Given the description of an element on the screen output the (x, y) to click on. 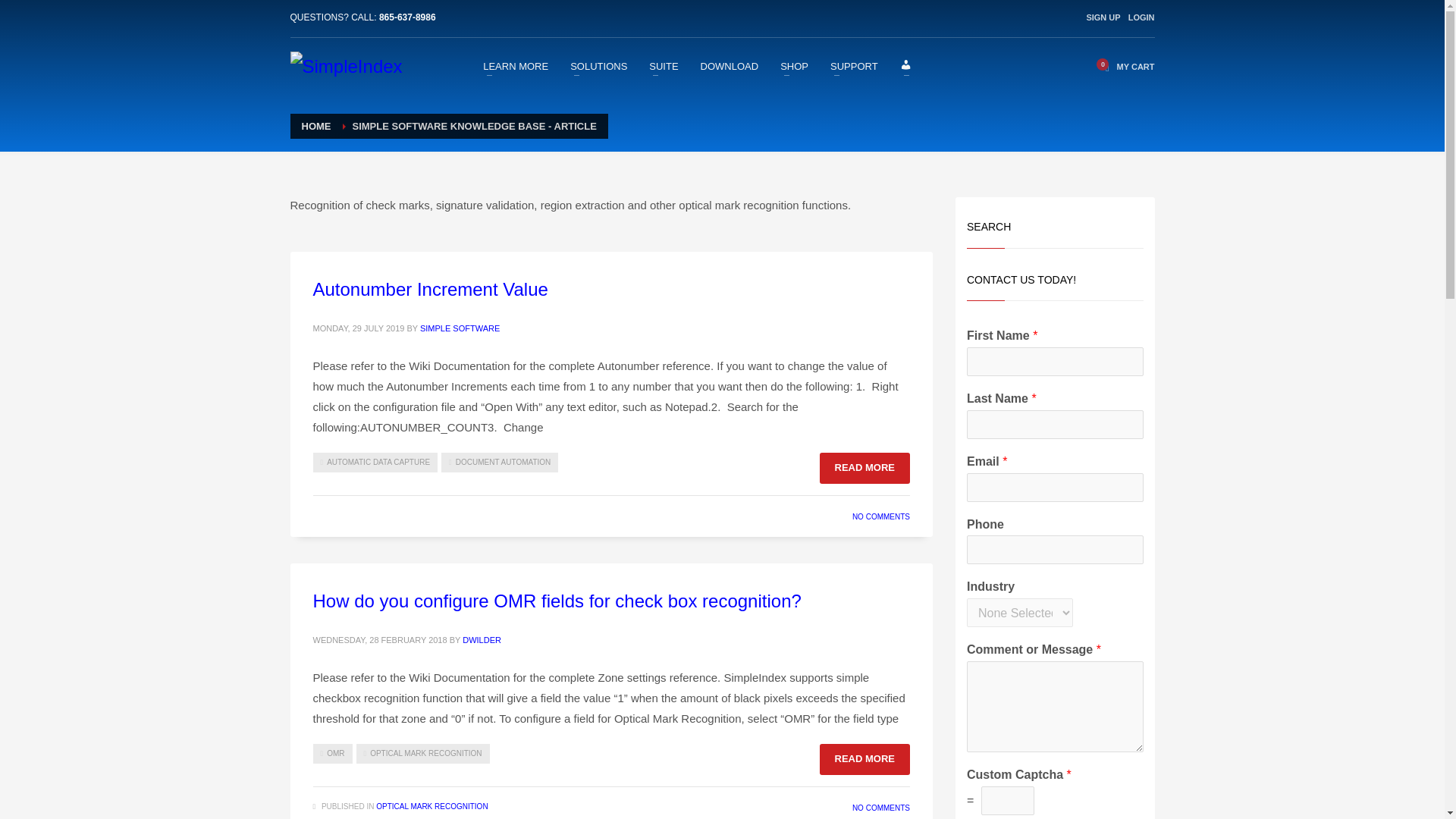
Posts by Simple Software (459, 327)
865-637-8986 (406, 17)
Posts by dwilder (481, 639)
LEARN MORE (515, 66)
SIGN UP (1102, 17)
View your shopping cart (1125, 66)
How many clicks does it take to scan your documents? (345, 66)
LOGIN (1141, 17)
